Given the description of an element on the screen output the (x, y) to click on. 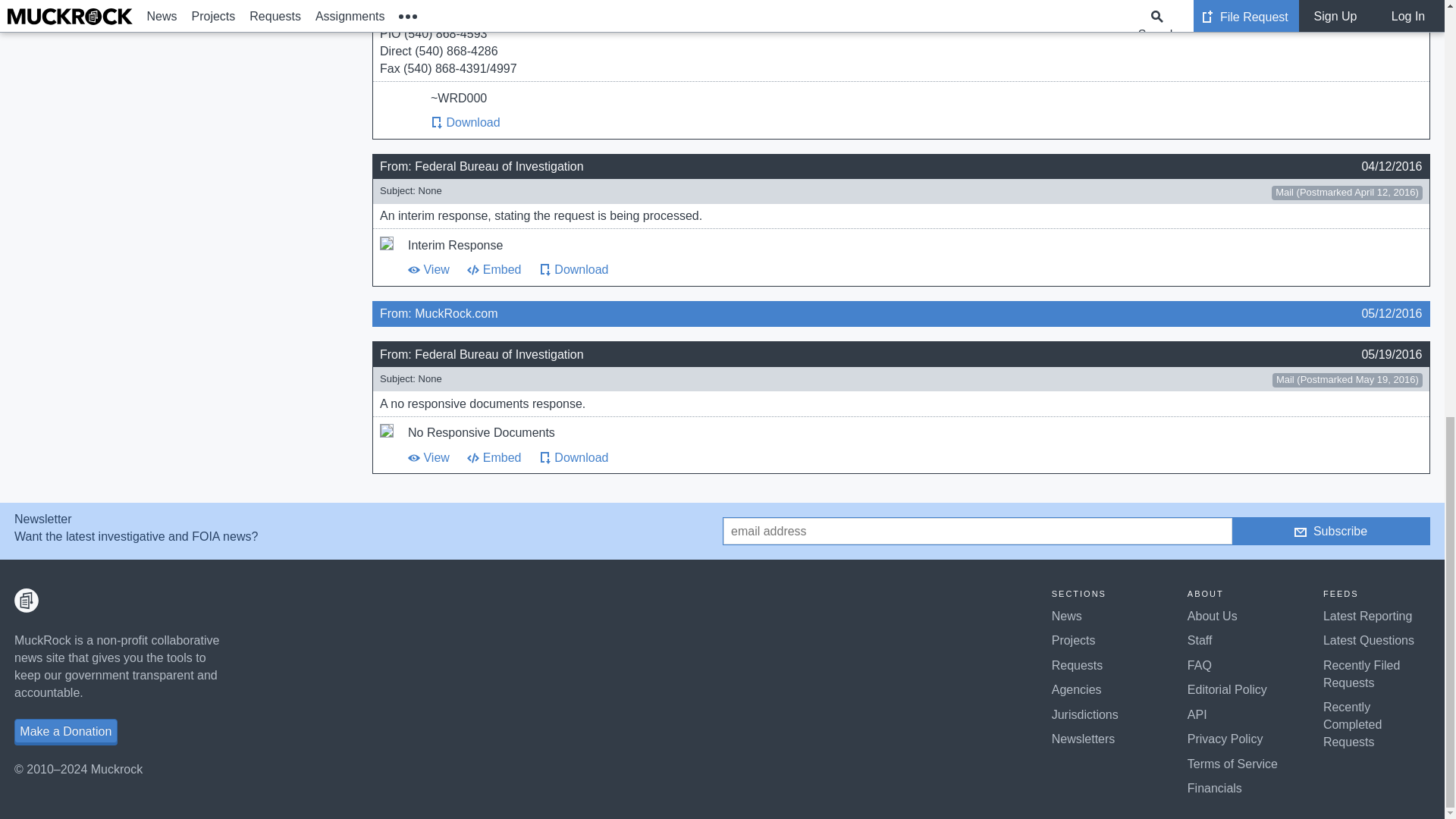
Email Icon resembling an envelope. (1300, 532)
Download An arrow pointing down (544, 458)
View An eye (413, 458)
View An eye (413, 269)
Download An arrow pointing down Download (465, 122)
Download An arrow pointing down (436, 122)
Download An arrow pointing down Download (573, 269)
View An eye View (428, 269)
Download An arrow pointing down (544, 269)
